Given the description of an element on the screen output the (x, y) to click on. 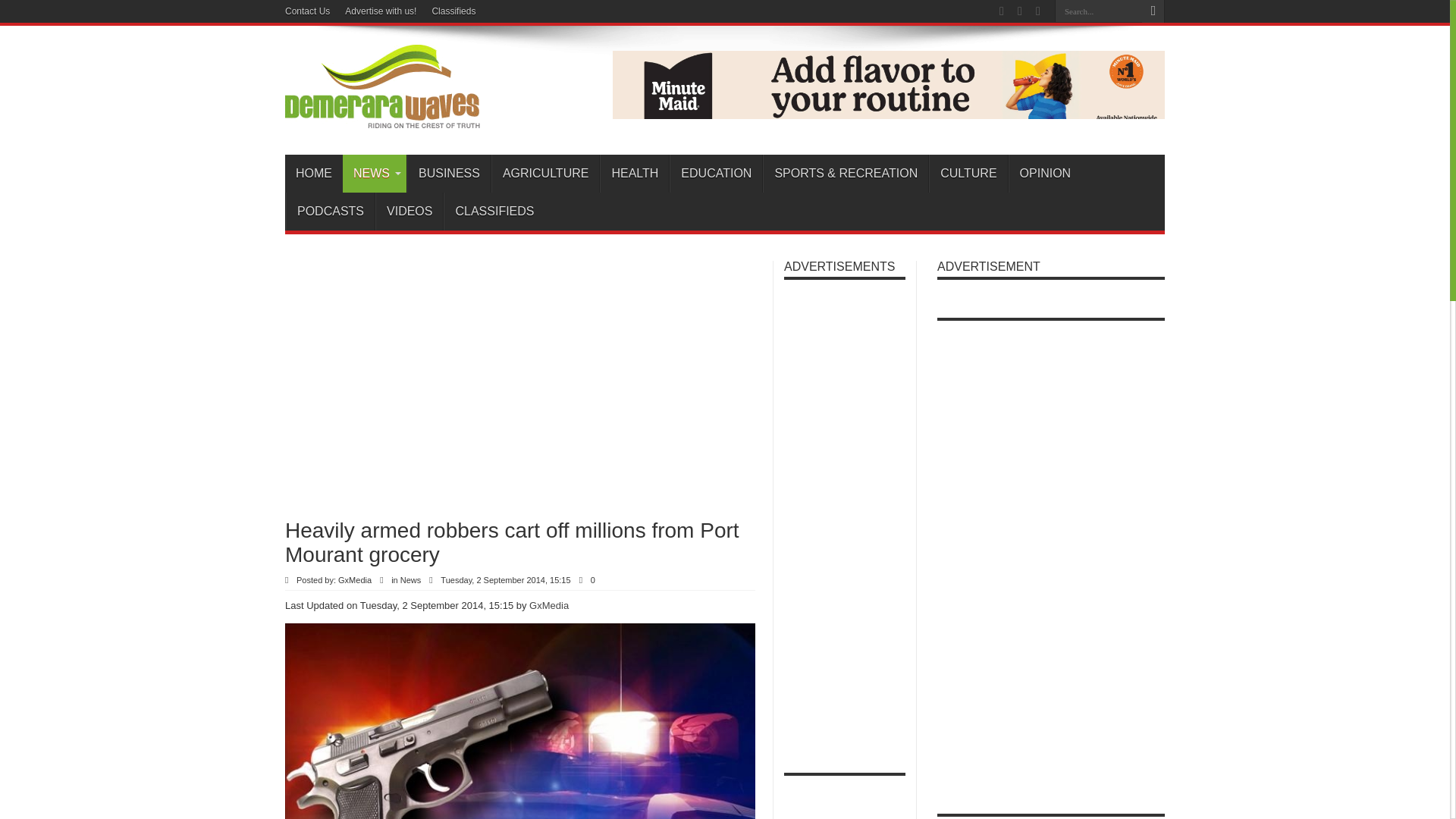
CULTURE (967, 173)
Classifieds (453, 11)
Contact Us (307, 11)
Advertise with us! (380, 11)
Search (1152, 11)
CLASSIFIEDS (494, 211)
Demerara Waves Online News- Guyana (382, 116)
VIDEOS (408, 211)
PODCASTS (329, 211)
Search... (1097, 11)
OPINION (1045, 173)
Advertisement (462, 382)
